Given the description of an element on the screen output the (x, y) to click on. 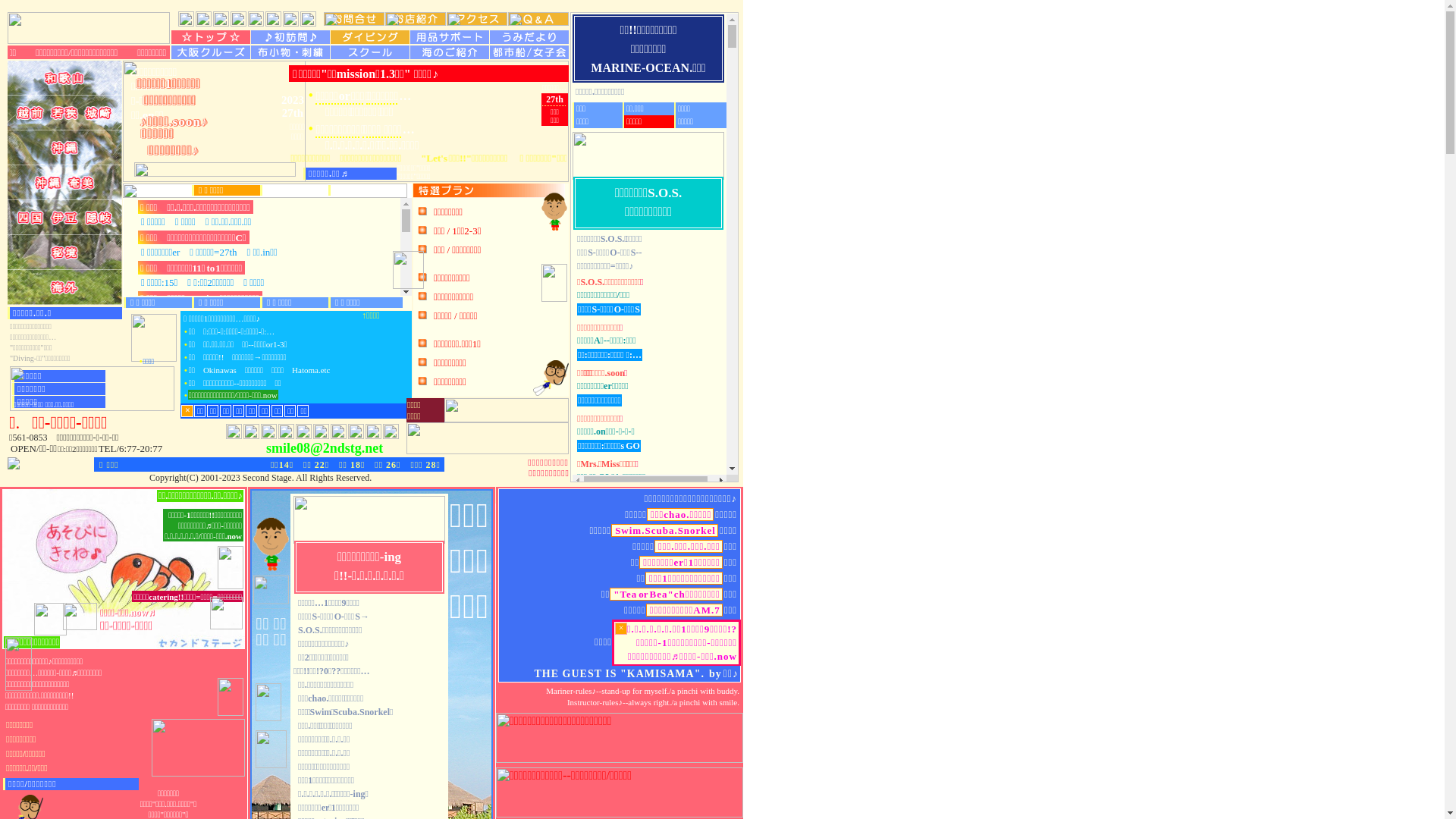
smile08@2ndstg.net Element type: text (324, 447)
